Given the description of an element on the screen output the (x, y) to click on. 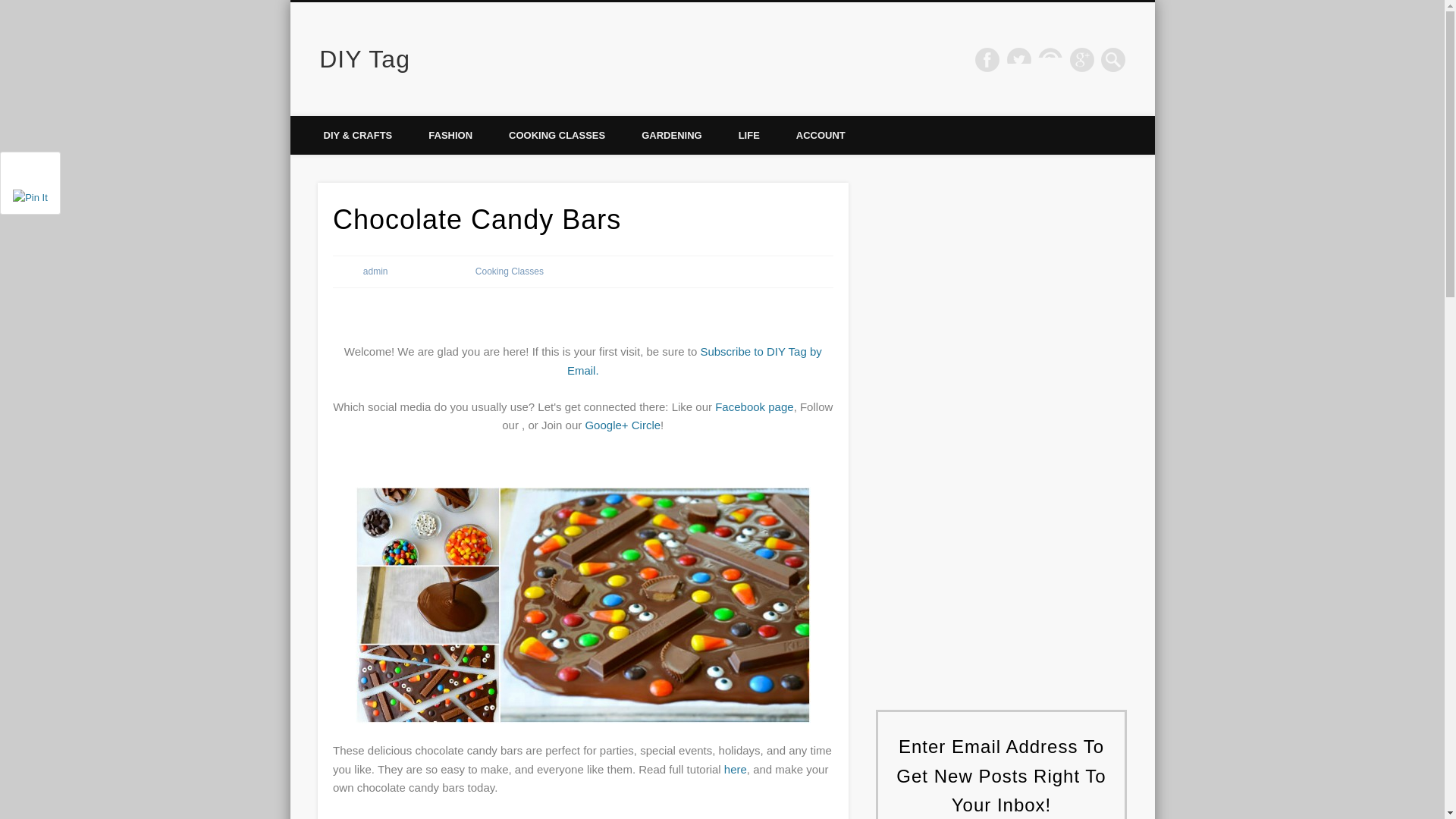
Pinterest (1050, 59)
Posts by admin (375, 271)
Subscribe to DIY Tag by Email. (694, 359)
DIY Tag (364, 58)
Facebook page (753, 406)
Twitter (1018, 59)
COOKING CLASSES (556, 135)
Search (11, 7)
Cooking Classes (509, 271)
FASHION (450, 135)
